Given the description of an element on the screen output the (x, y) to click on. 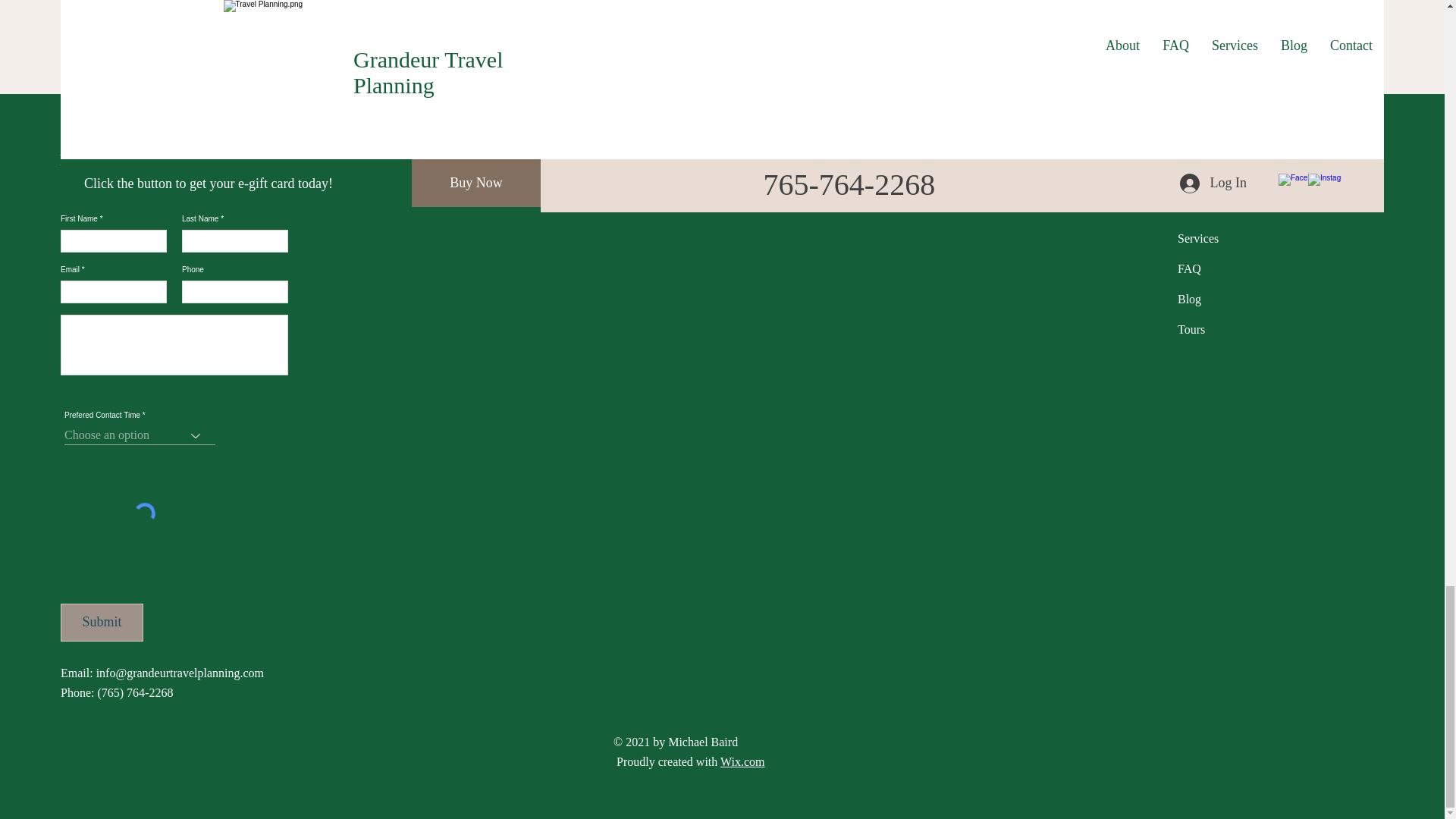
Services (1197, 237)
Blog (1189, 298)
About (1192, 207)
Tours (1191, 328)
FAQ (1189, 268)
Wix.com (742, 761)
Submit (101, 622)
